Given the description of an element on the screen output the (x, y) to click on. 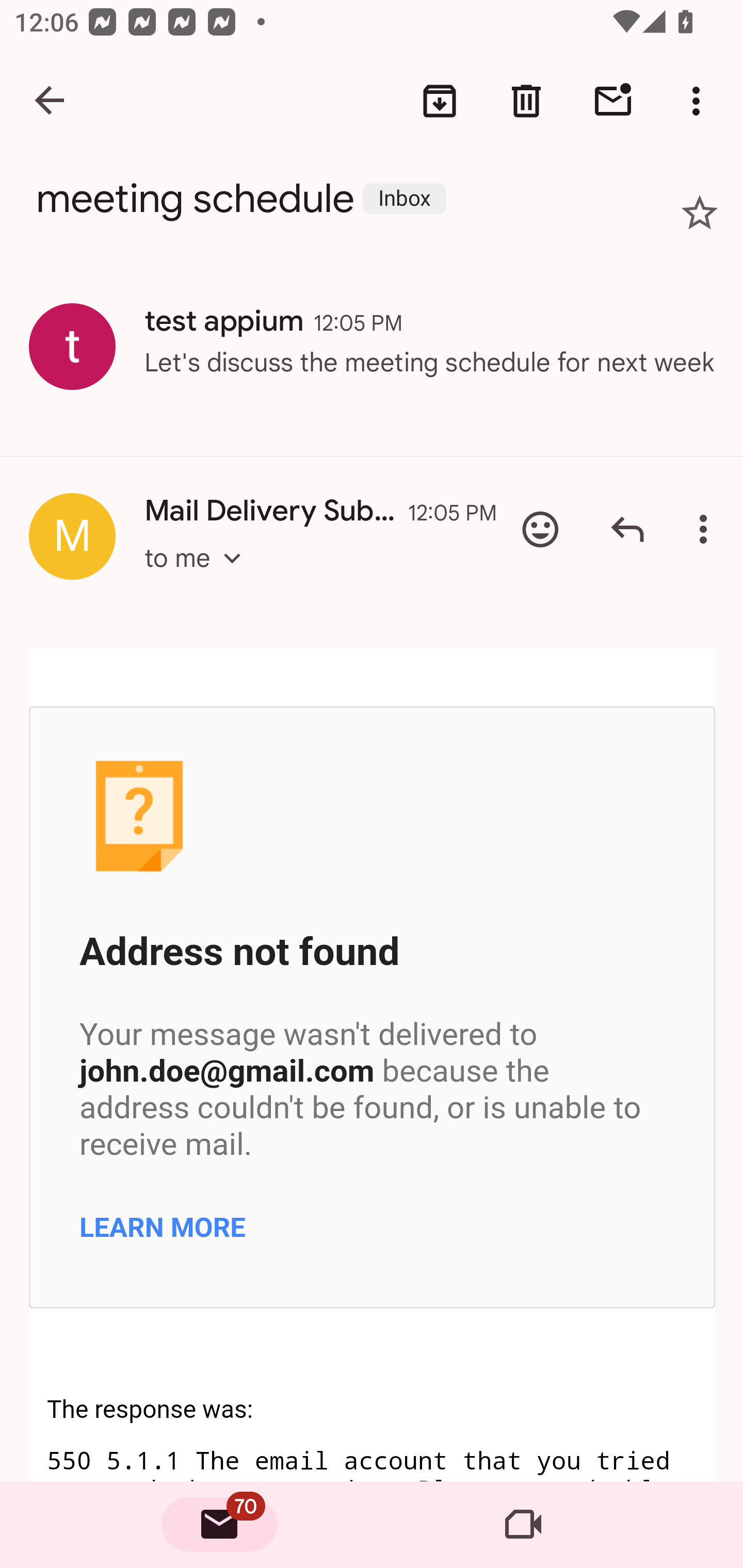
Navigate up (50, 101)
Archive (439, 101)
Delete (525, 101)
Mark unread (612, 101)
More options (699, 101)
Add star (699, 212)
Show contact information for test appium (71, 346)
Add emoji reaction (540, 529)
Reply (626, 529)
More options (706, 529)
to me (199, 576)
Meet (523, 1524)
